Given the description of an element on the screen output the (x, y) to click on. 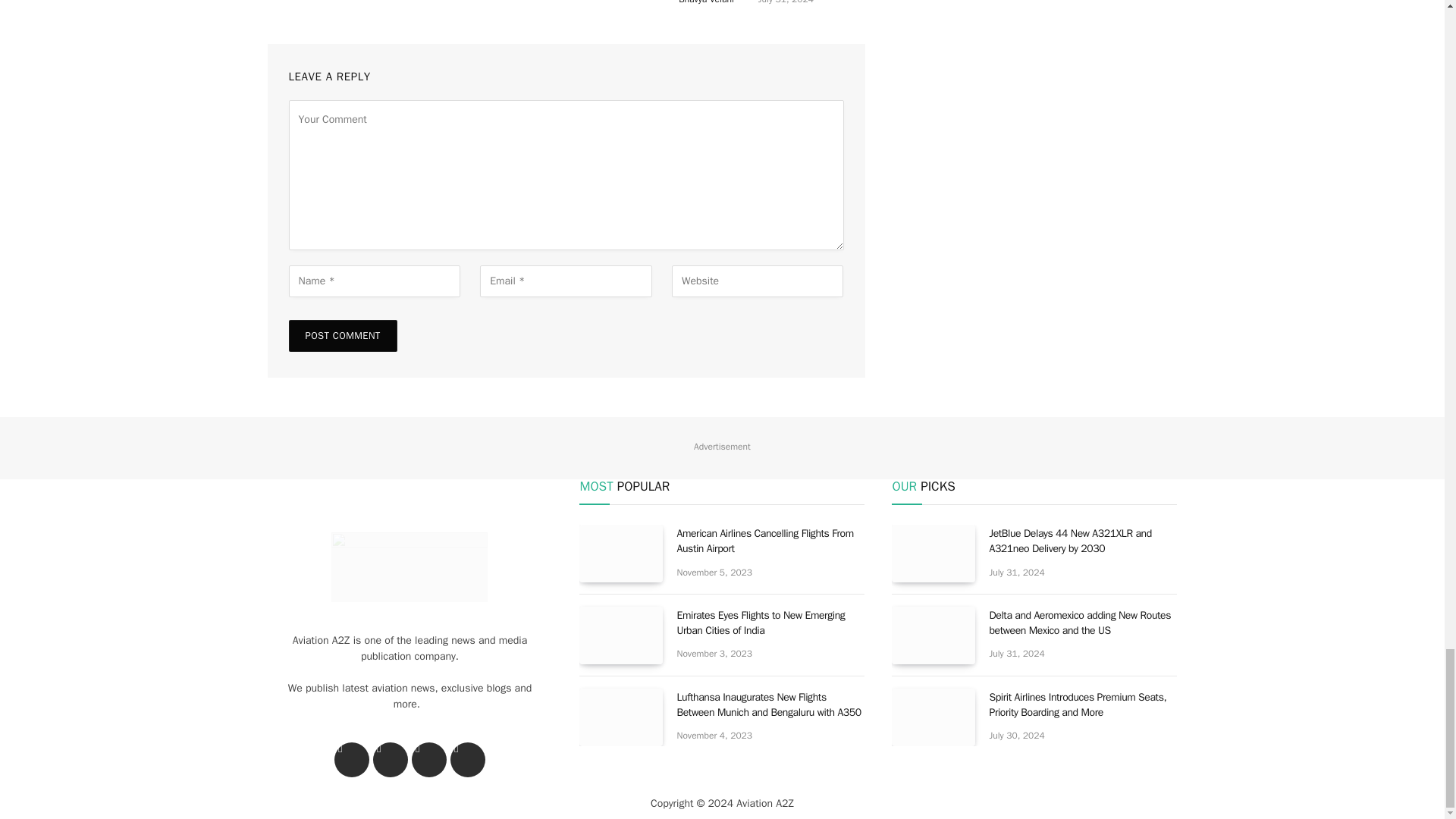
Post Comment (342, 336)
